Given the description of an element on the screen output the (x, y) to click on. 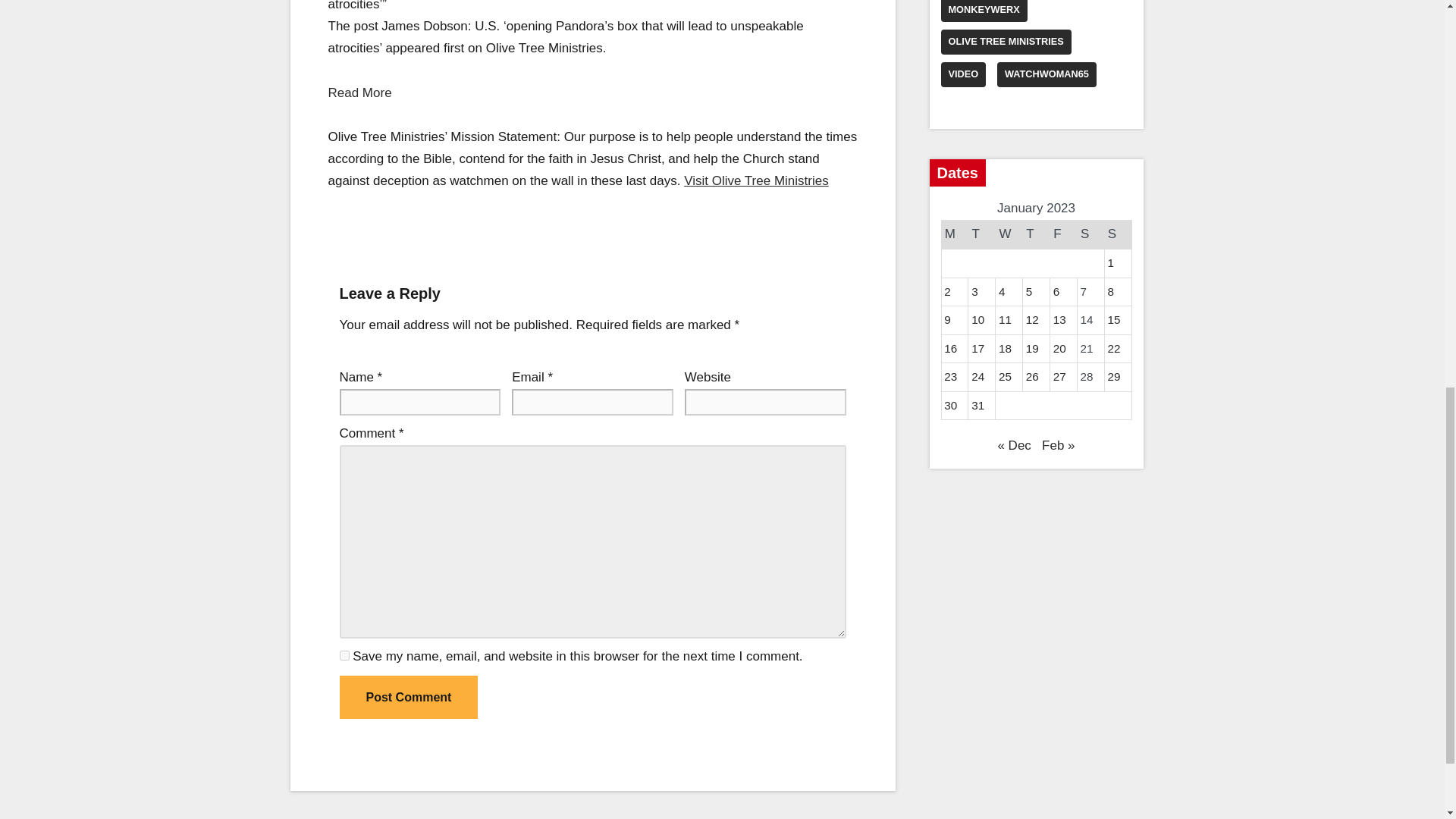
5 (1029, 291)
Post Comment (409, 697)
8 (1109, 291)
Read More (360, 92)
yes (344, 655)
6 (1055, 291)
Sunday (1117, 234)
Saturday (1090, 234)
Wednesday (1009, 234)
Friday (1063, 234)
WATCHWOMAN65 (1046, 74)
Tuesday (981, 234)
MONKEYWERX (983, 11)
Monday (954, 234)
OLIVE TREE MINISTRIES (1005, 41)
